Given the description of an element on the screen output the (x, y) to click on. 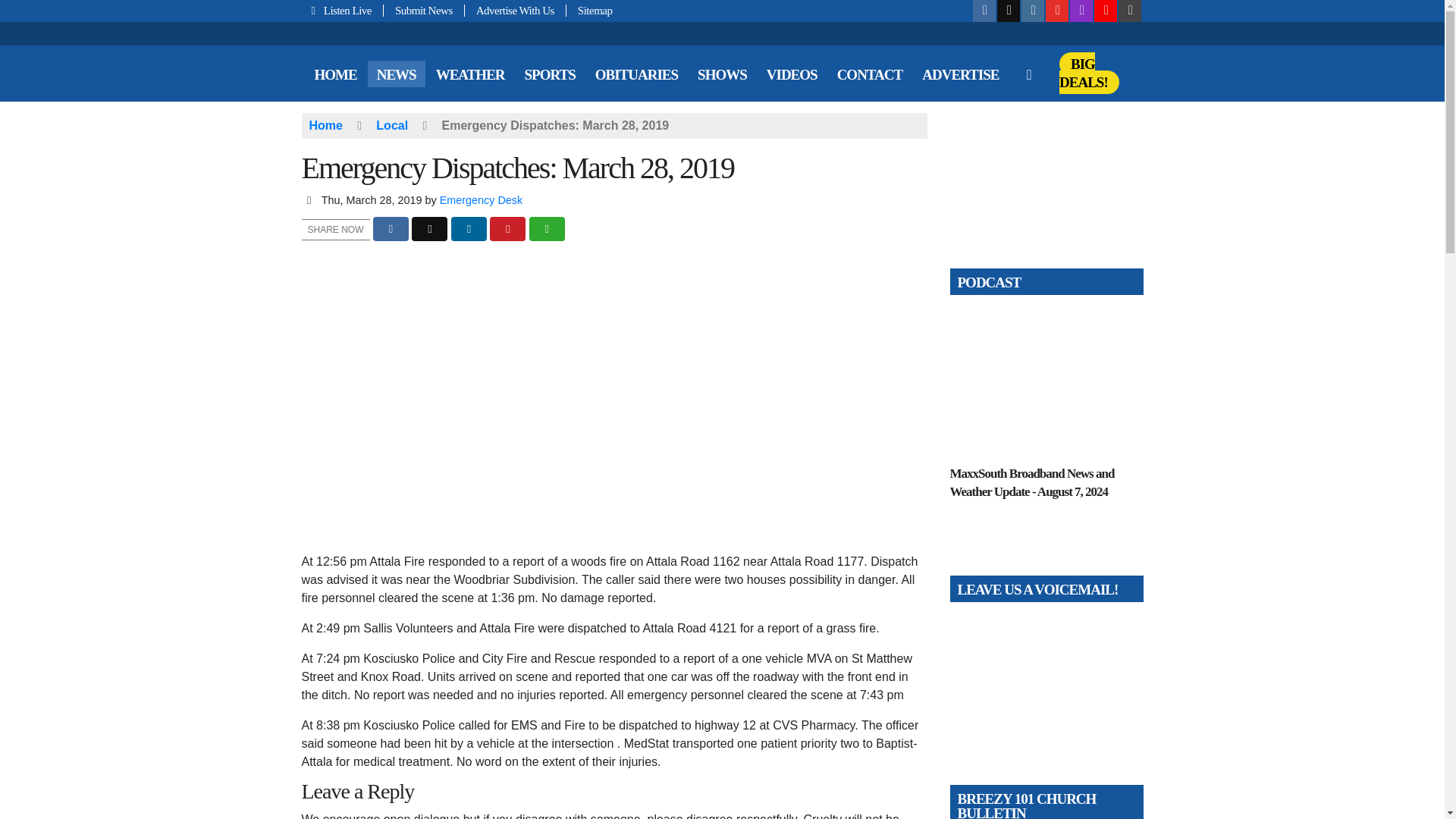
Follow us on Soundcloud (1105, 11)
Follow our Podcast (1081, 11)
Follow us on Instagram (1032, 11)
Advertise With Us (515, 10)
Sitemap (589, 10)
Follow us on Youtube (1056, 11)
Follow us on Facebook (983, 11)
Follow us on X (1008, 11)
Listen Live (342, 10)
Submit News (424, 10)
